Given the description of an element on the screen output the (x, y) to click on. 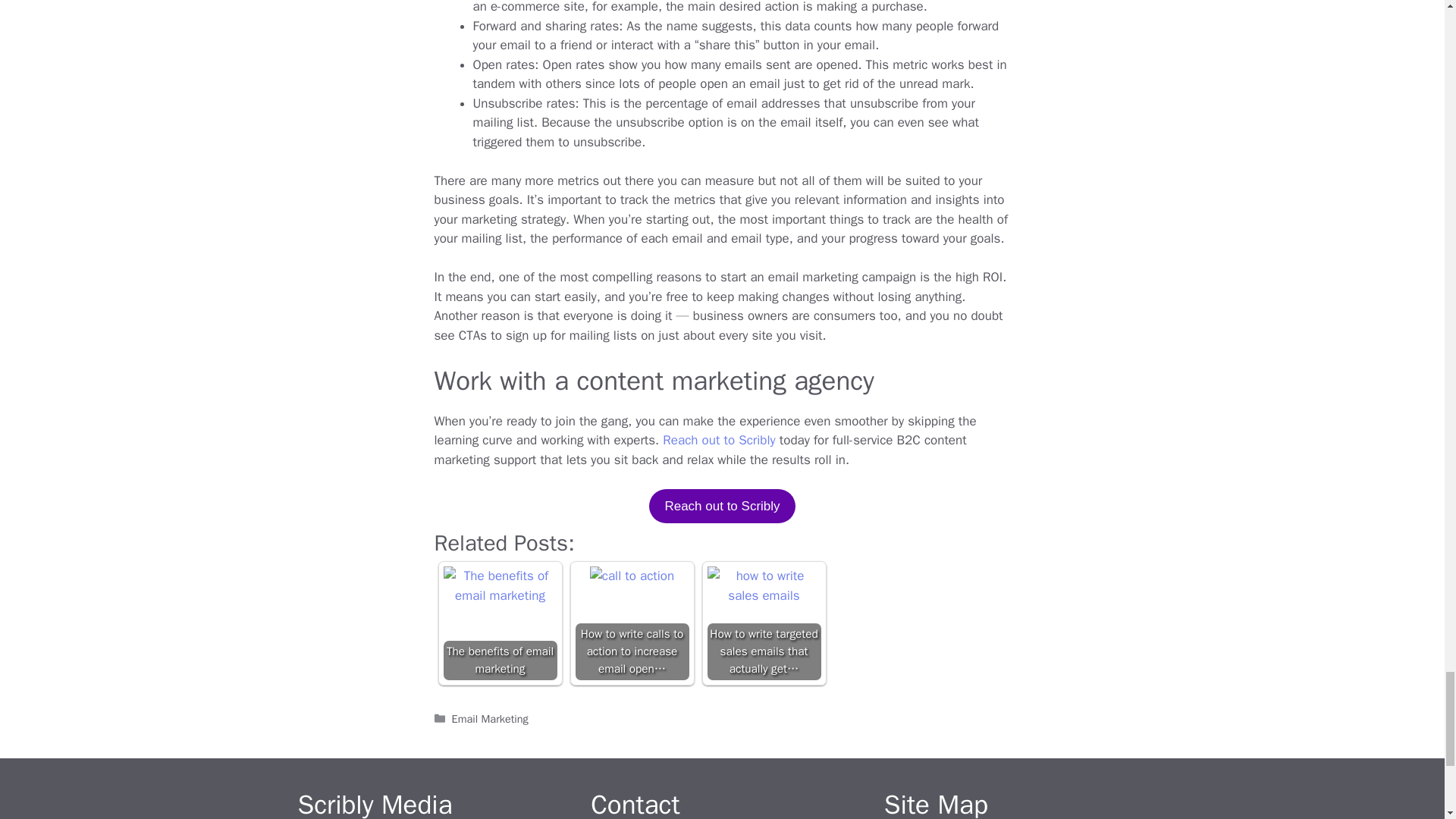
The benefits of email marketing (499, 585)
